Given the description of an element on the screen output the (x, y) to click on. 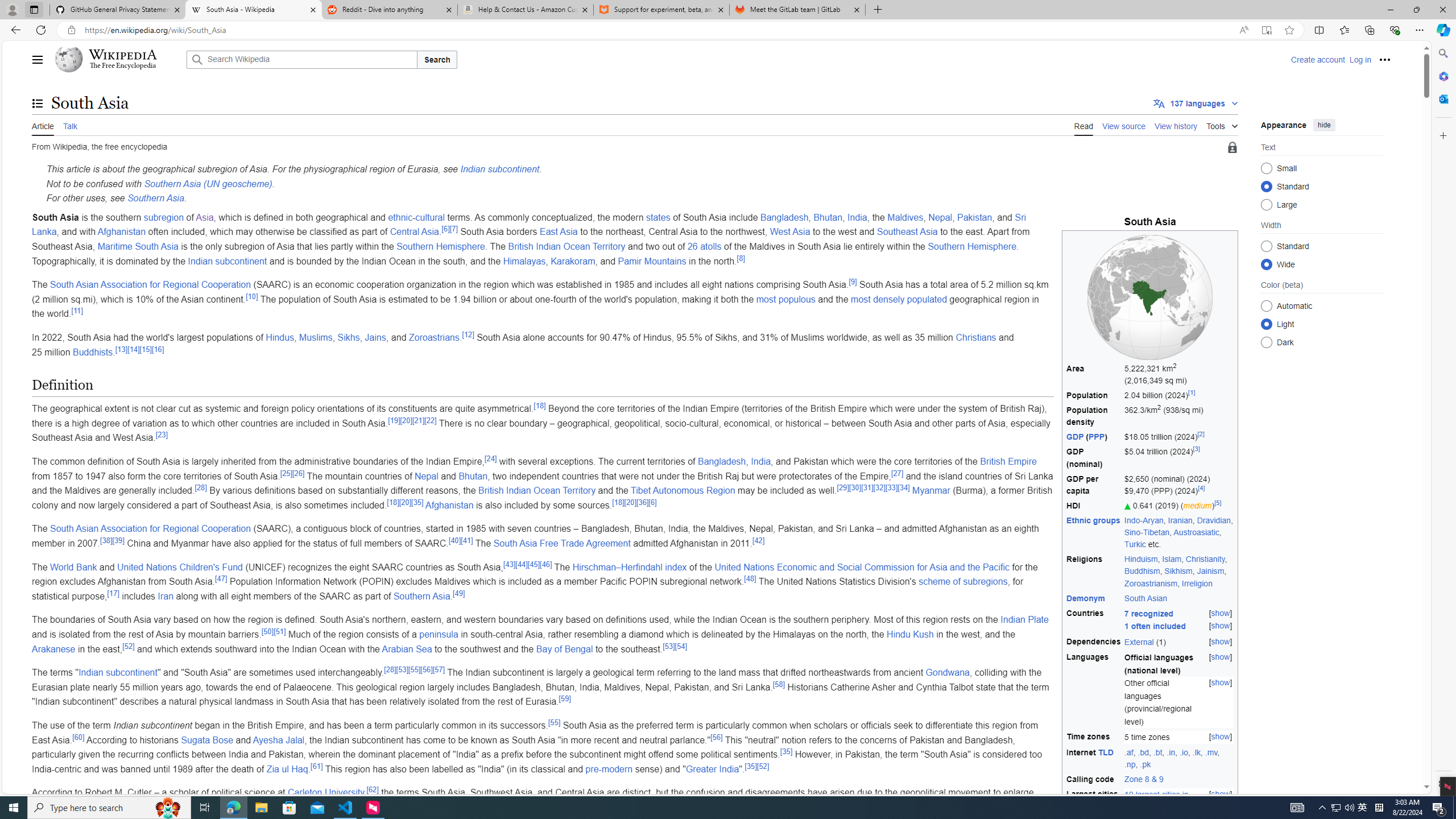
[21] (418, 420)
Bhutan (472, 475)
Sino-Tibetan (1147, 532)
Karakoram (572, 260)
Indian Plate (1024, 619)
10 largest cities in South Asia (1156, 801)
.af, .bd, .bt, .in, .io, .lk, .mv, .np, .pk (1179, 758)
[38] (106, 539)
[39] (118, 539)
Languages (1093, 689)
[30] (854, 487)
Southern Asia (UN geoscheme) (208, 183)
.bd (1142, 751)
Central Asia (414, 231)
